Given the description of an element on the screen output the (x, y) to click on. 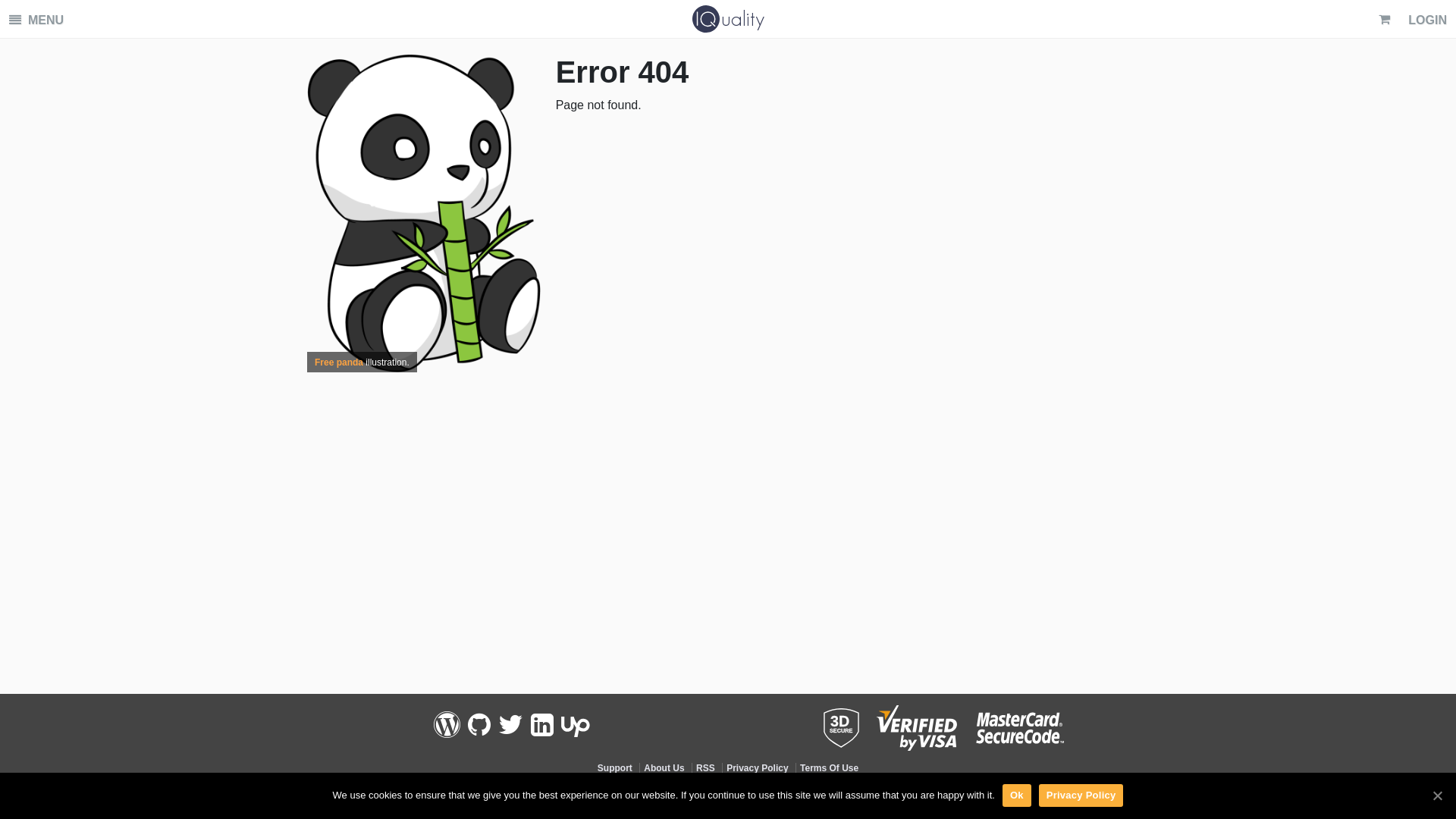
About Us Element type: text (663, 767)
Support Element type: text (614, 767)
Terms Of Use Element type: text (829, 767)
Follow us on Github Element type: hover (479, 725)
Follow us on Twitter Element type: hover (510, 725)
Privacy Policy Element type: text (1080, 795)
Privacy Policy Element type: text (756, 767)
RSS Element type: text (705, 767)
 MENU Element type: text (36, 20)
Follow us on Wordpress Element type: hover (446, 725)
uality Element type: text (727, 18)
Follow us on UpWork Element type: hover (575, 725)
Ok Element type: text (1016, 795)
Follow us on LinkedIn Element type: hover (542, 725)
Free panda Element type: text (338, 362)
